Given the description of an element on the screen output the (x, y) to click on. 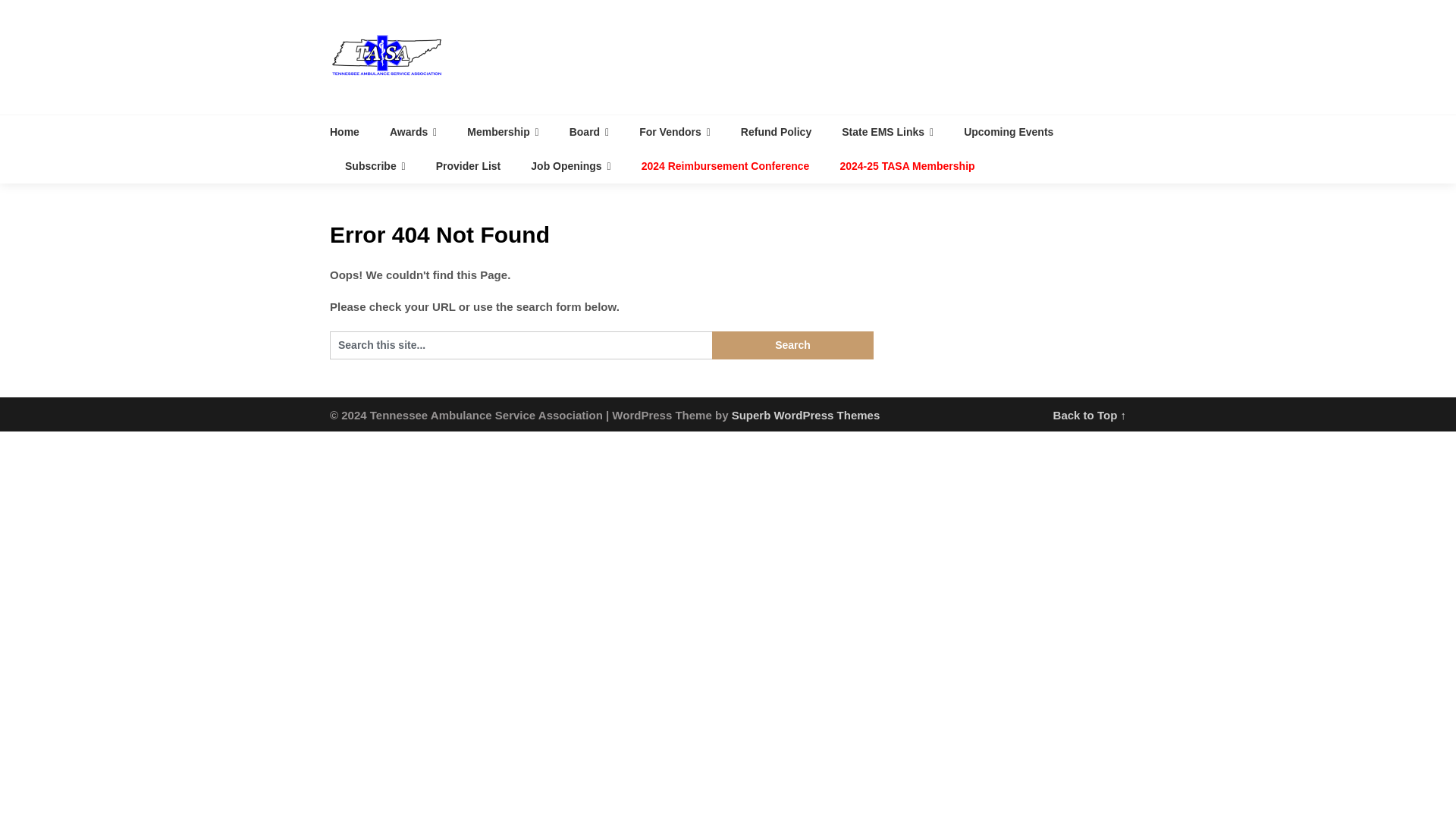
Home (352, 132)
Search (792, 345)
For Vendors (674, 132)
Board (589, 132)
Refund Policy (776, 132)
Search this site... (520, 345)
Upcoming Events (1008, 132)
State EMS Links (888, 132)
Awards (412, 132)
Subscribe (375, 166)
Membership (502, 132)
